Given the description of an element on the screen output the (x, y) to click on. 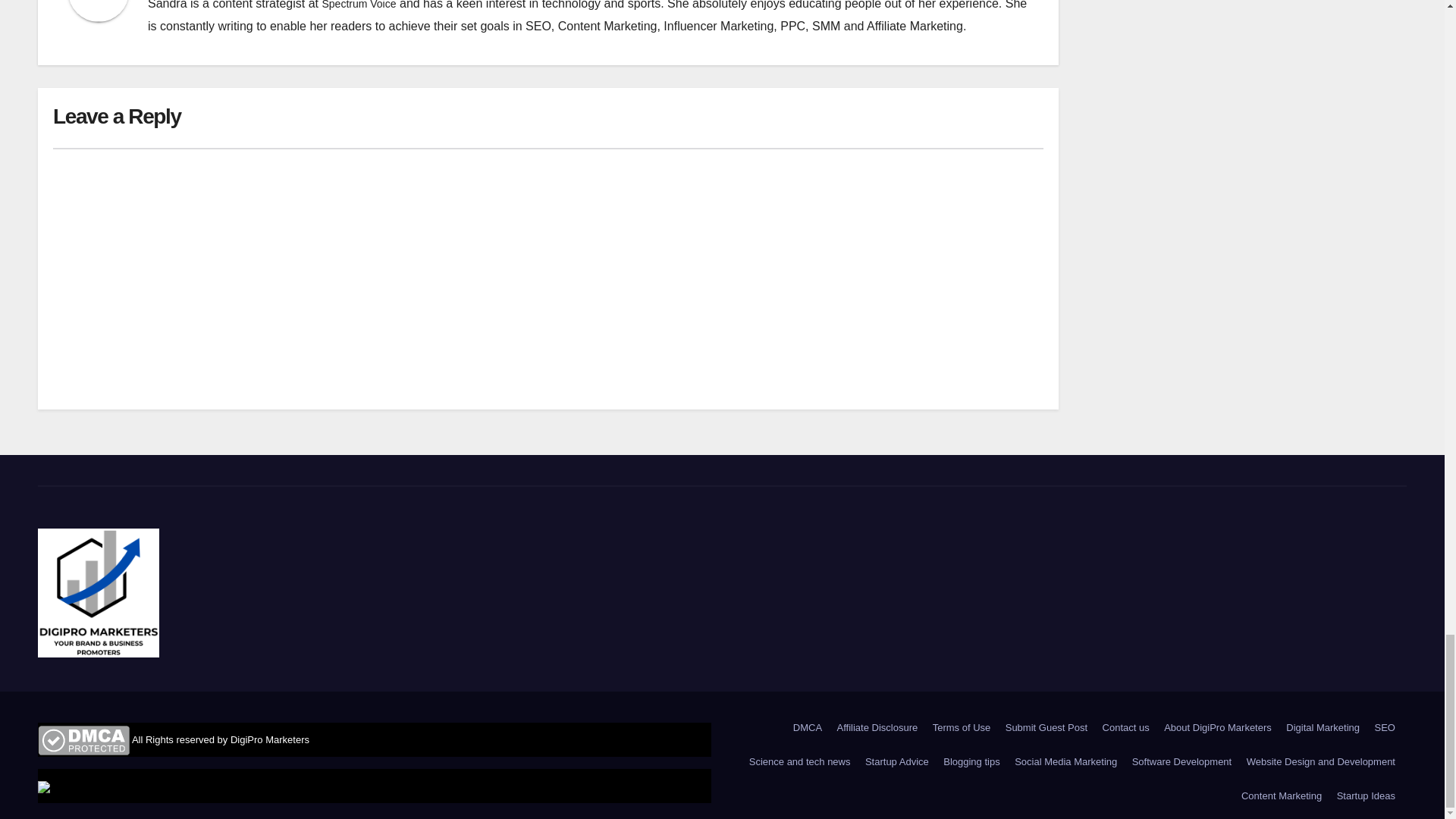
DMCA.com Protection Status (83, 739)
Follow us on Google News (43, 785)
